Given the description of an element on the screen output the (x, y) to click on. 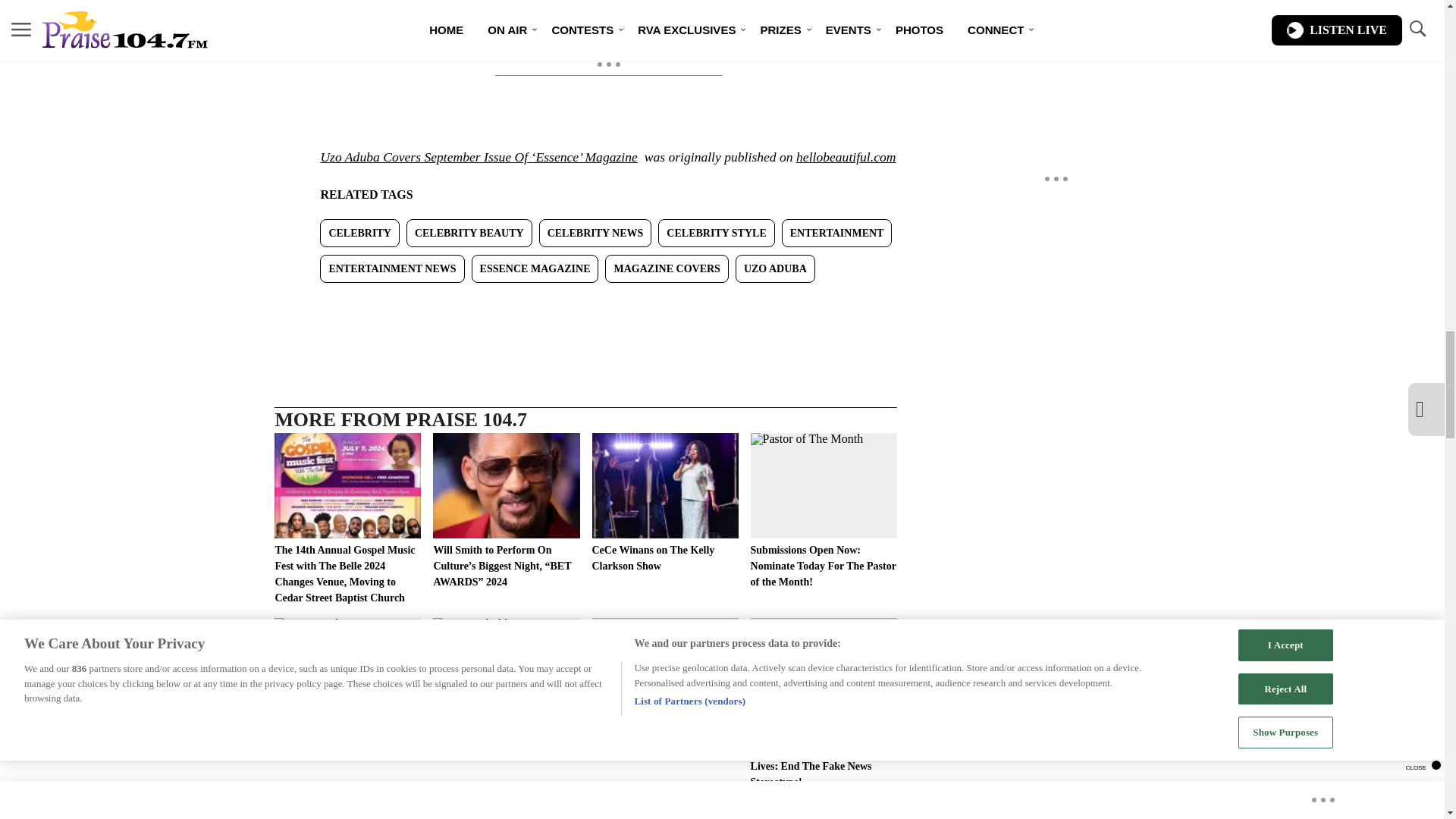
Vuukle Sharebar Widget (585, 307)
